Given the description of an element on the screen output the (x, y) to click on. 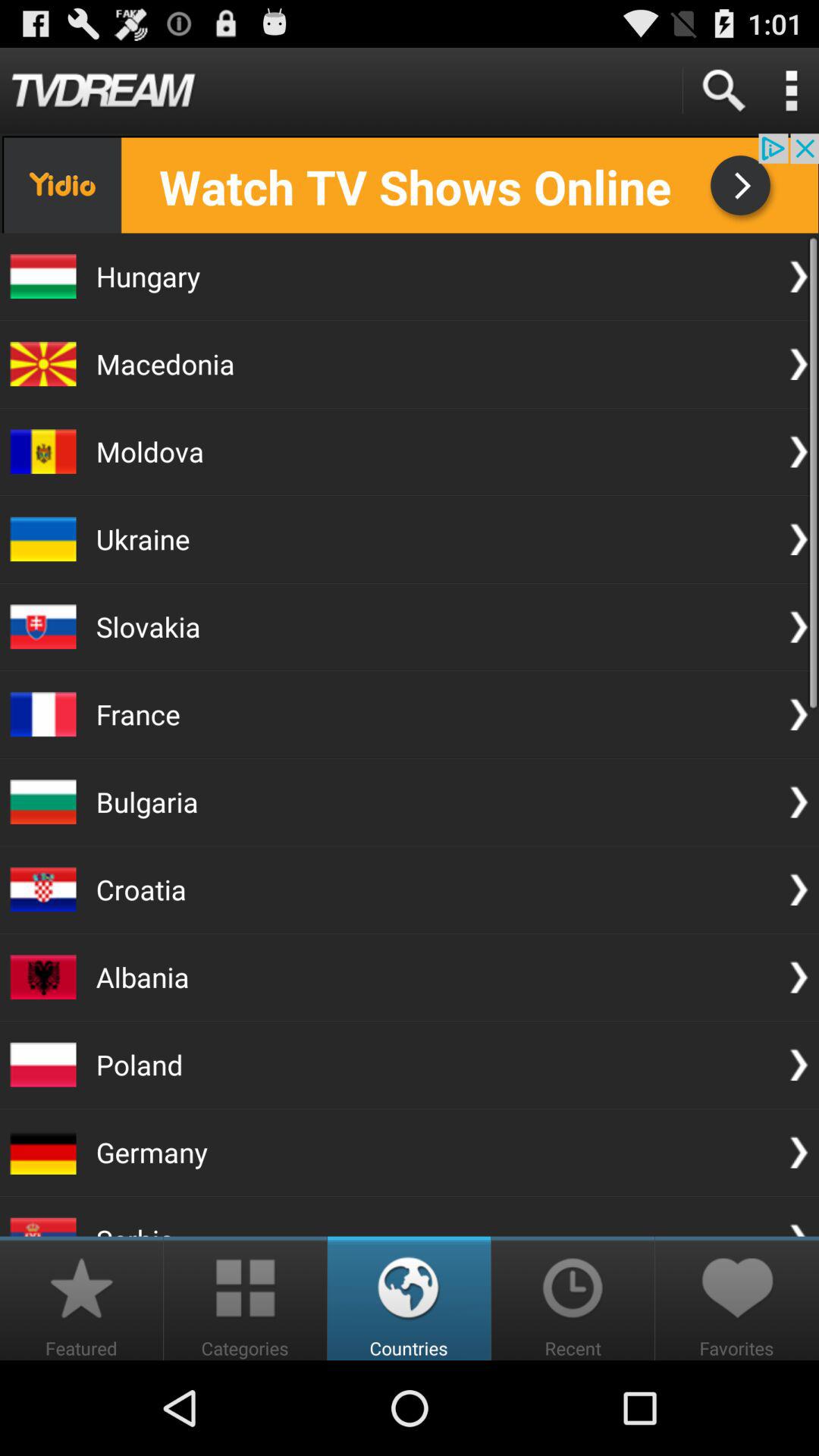
advertisement (409, 183)
